Given the description of an element on the screen output the (x, y) to click on. 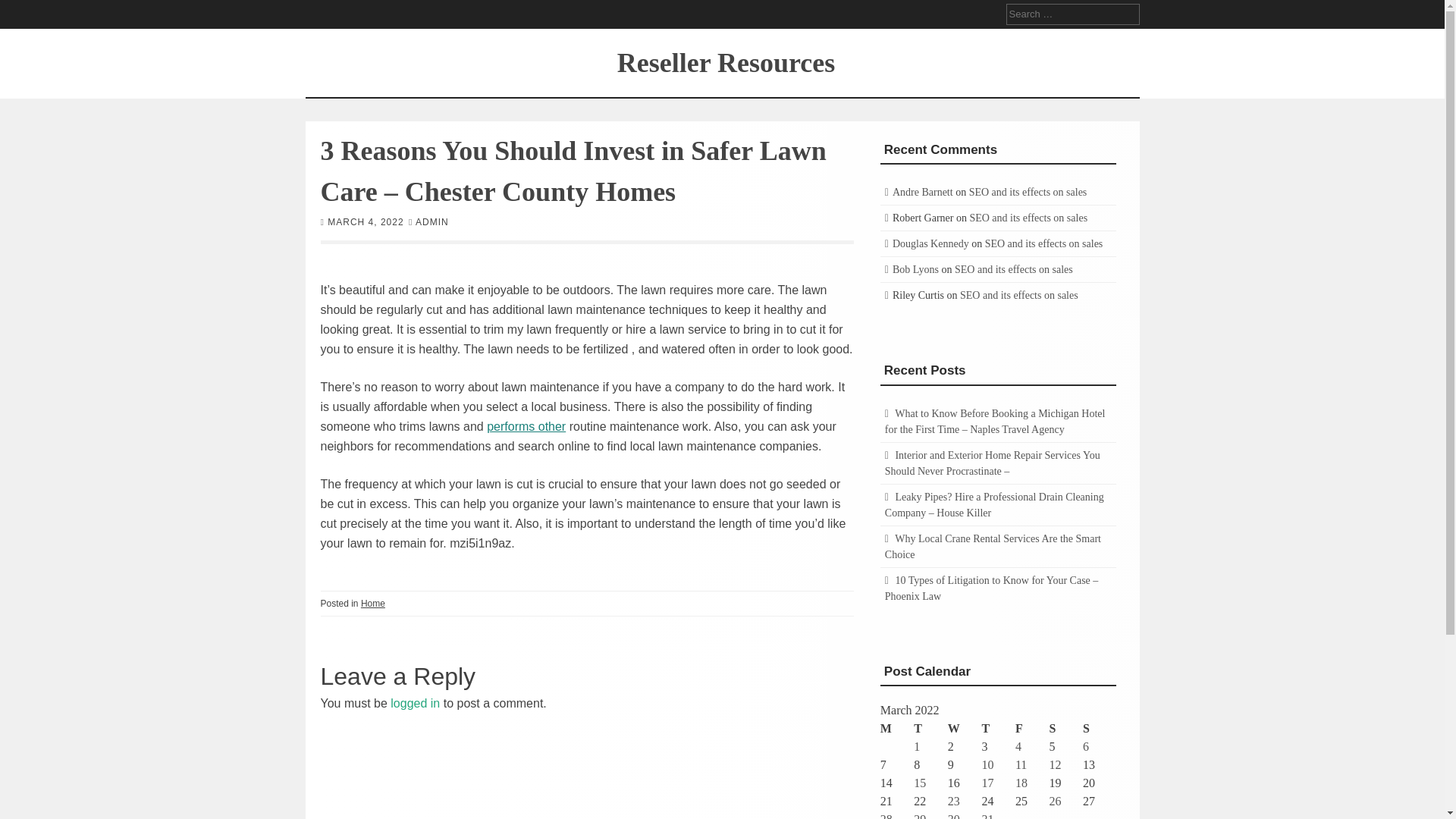
SEO and its effects on sales (1014, 269)
Douglas Kennedy (930, 243)
logged in (414, 702)
Reseller Resources (726, 61)
31 (986, 816)
18 (1020, 782)
28 (886, 816)
10 (986, 764)
Sunday (1099, 728)
SEO and its effects on sales (1028, 192)
